Given the description of an element on the screen output the (x, y) to click on. 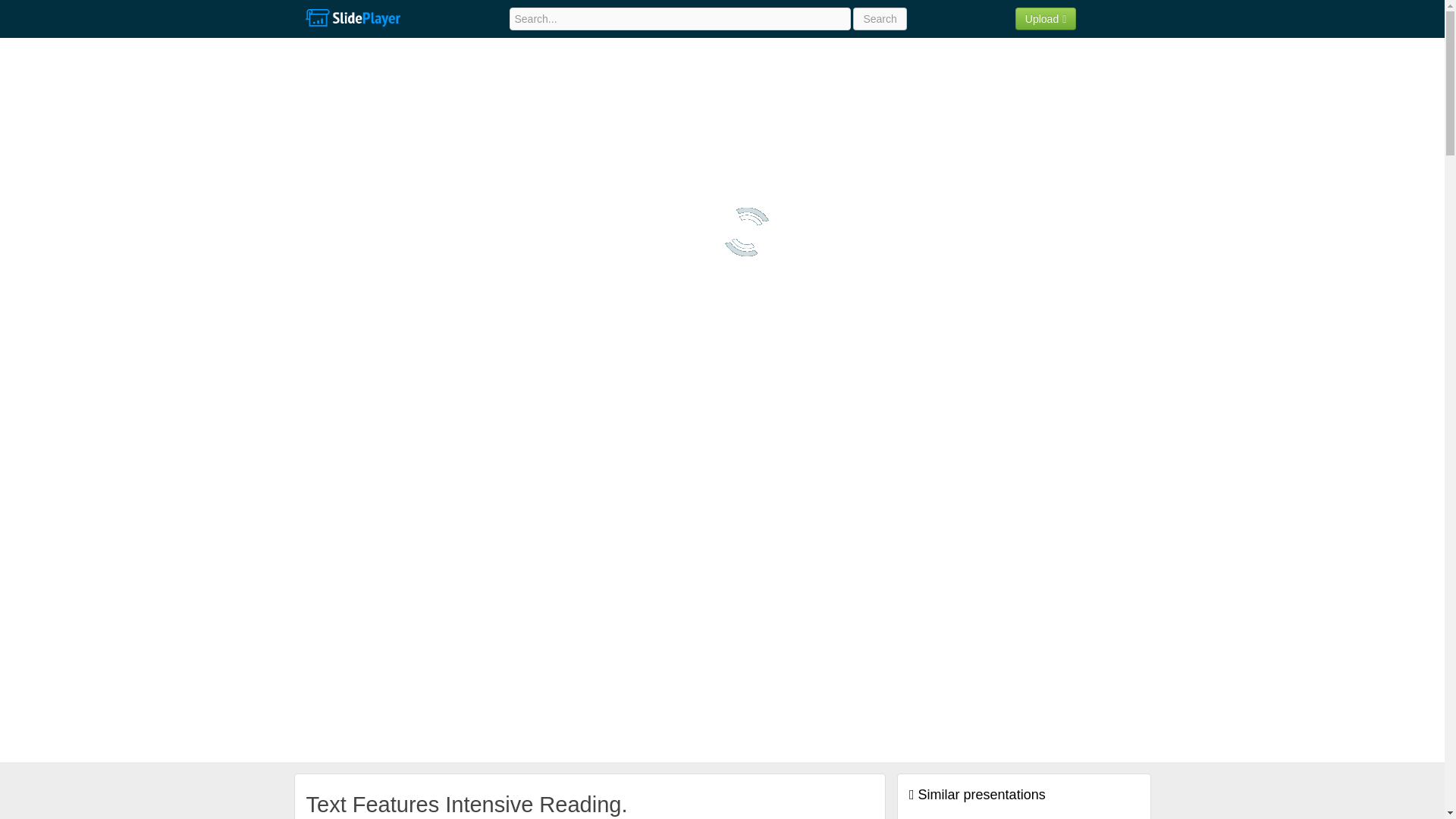
Presentation is loading. Please wait. (746, 232)
Upload (1045, 18)
SlidePlayer (352, 18)
Search (879, 18)
